Given the description of an element on the screen output the (x, y) to click on. 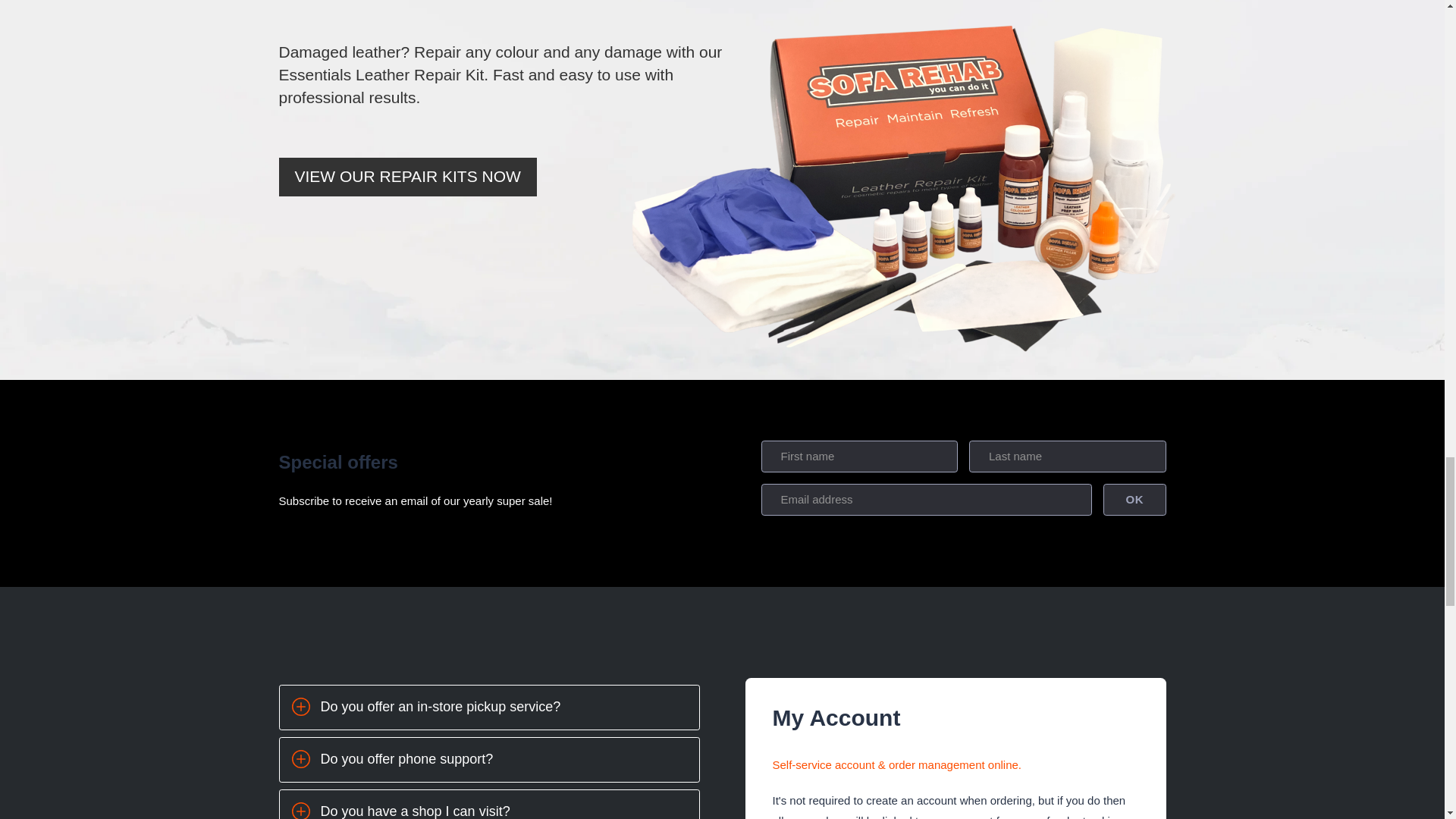
OK (1134, 499)
